Given the description of an element on the screen output the (x, y) to click on. 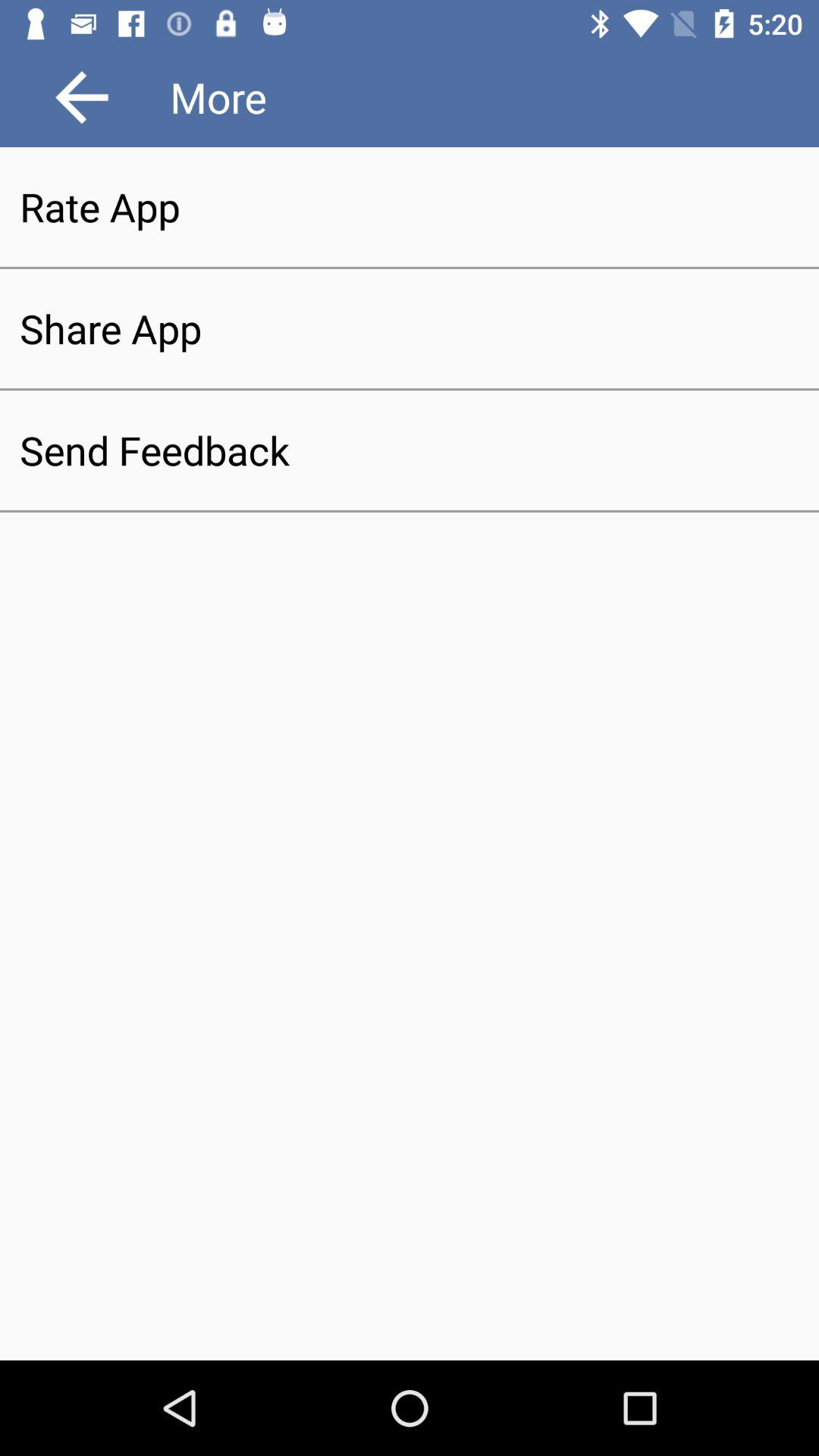
select app next to the more item (81, 97)
